Given the description of an element on the screen output the (x, y) to click on. 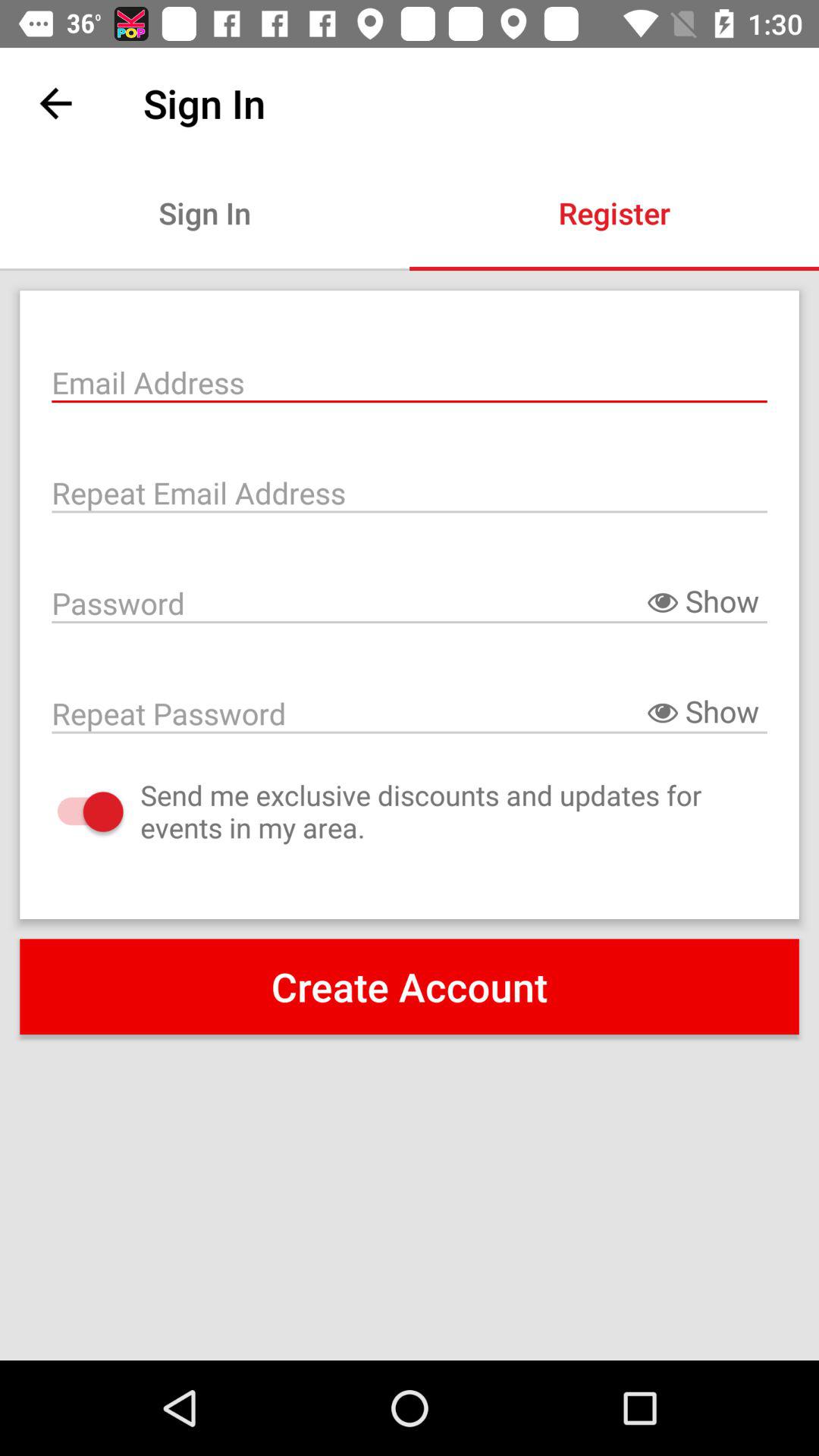
open the item to the right of sign in (614, 212)
